Given the description of an element on the screen output the (x, y) to click on. 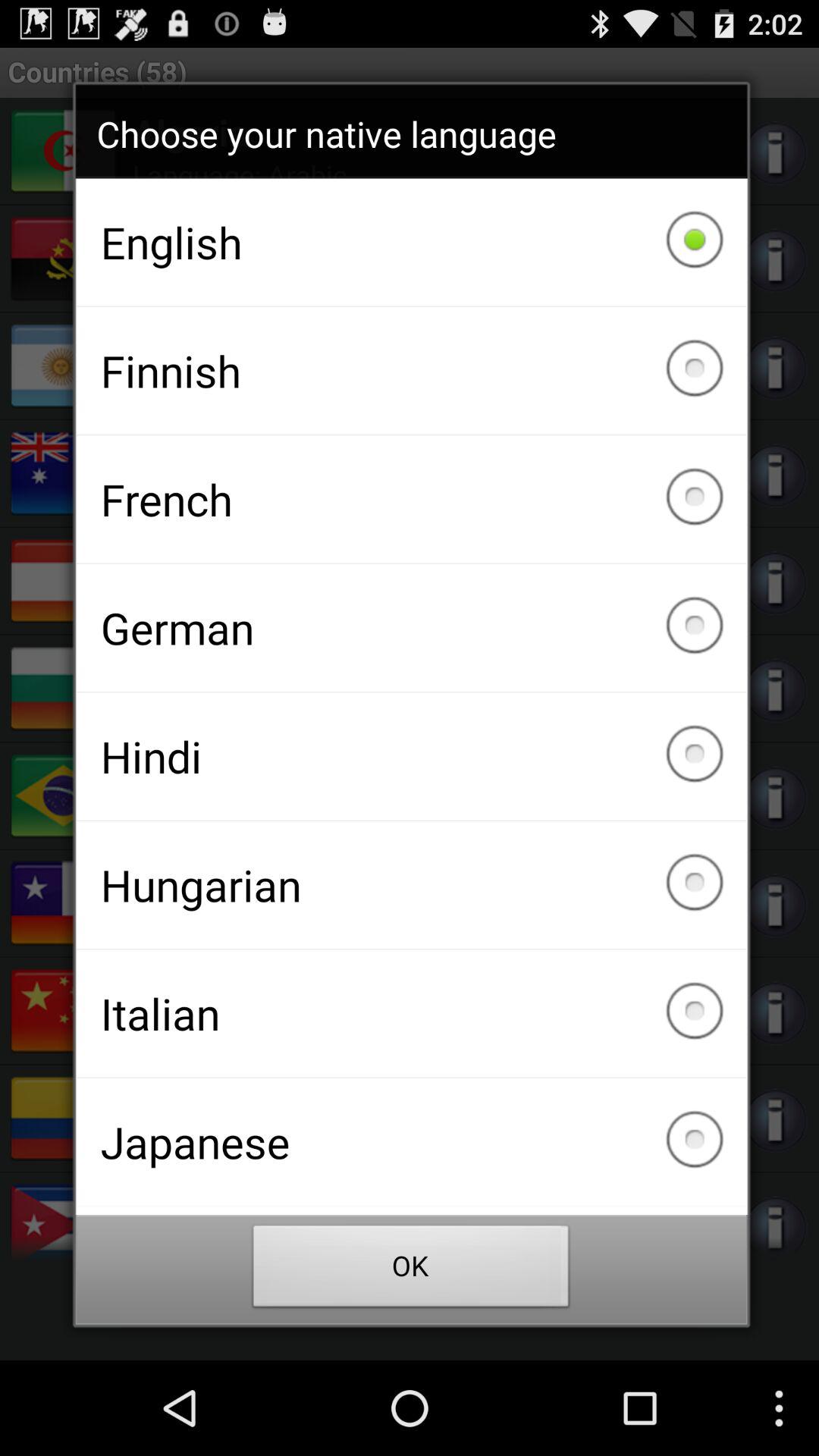
jump to the ok item (410, 1270)
